Given the description of an element on the screen output the (x, y) to click on. 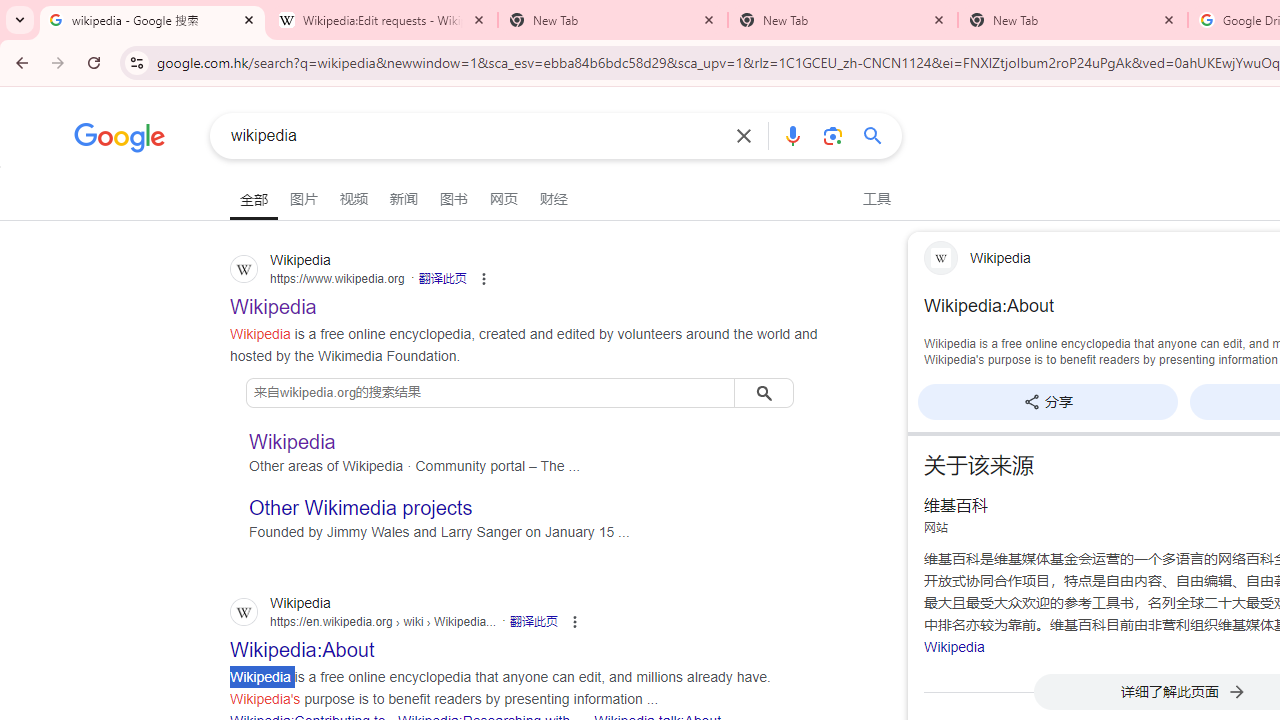
Other Wikimedia projects (361, 507)
